Given the description of an element on the screen output the (x, y) to click on. 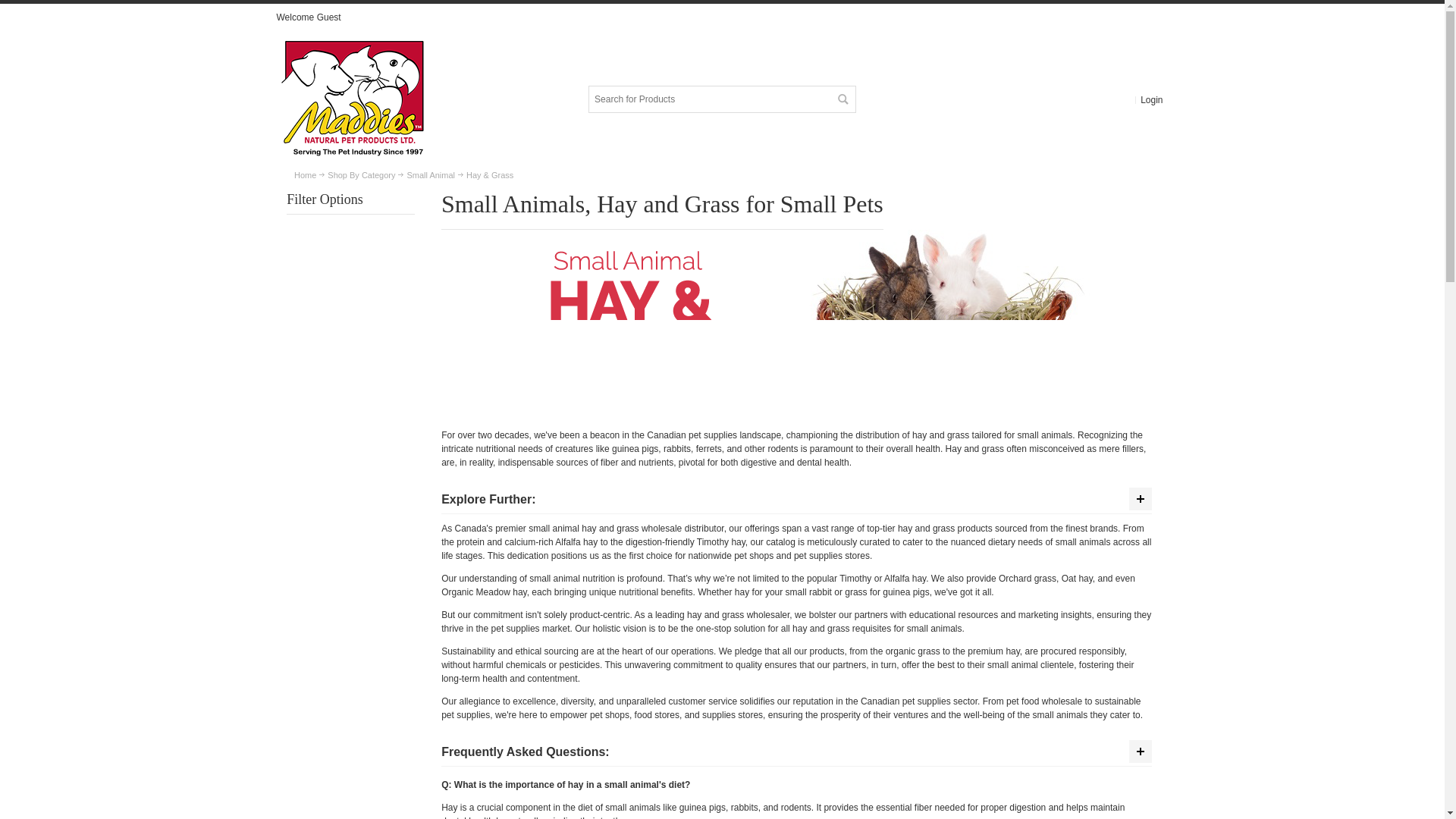
Search (842, 99)
Login (1151, 99)
